Given the description of an element on the screen output the (x, y) to click on. 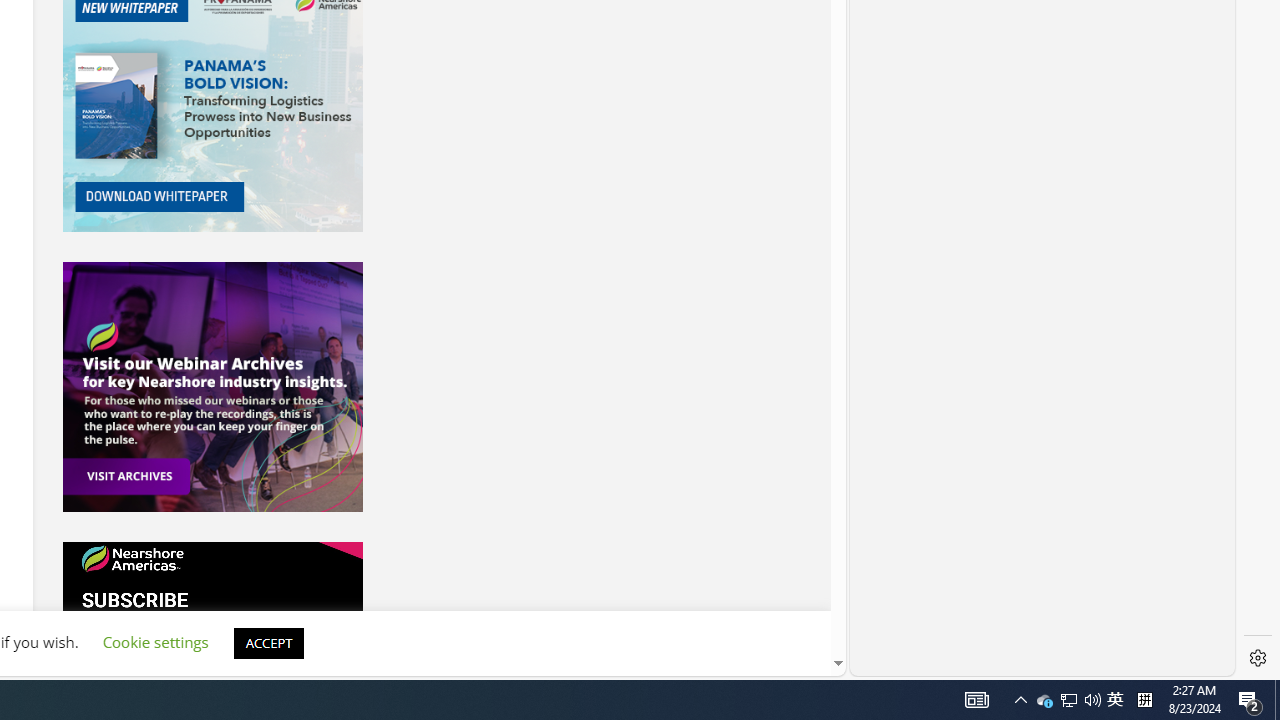
Events-Banner-Ad.jpg (212, 386)
Cookie settings (155, 642)
ACCEPT (268, 642)
Events-Banner-Ad.jpg (212, 386)
